Given the description of an element on the screen output the (x, y) to click on. 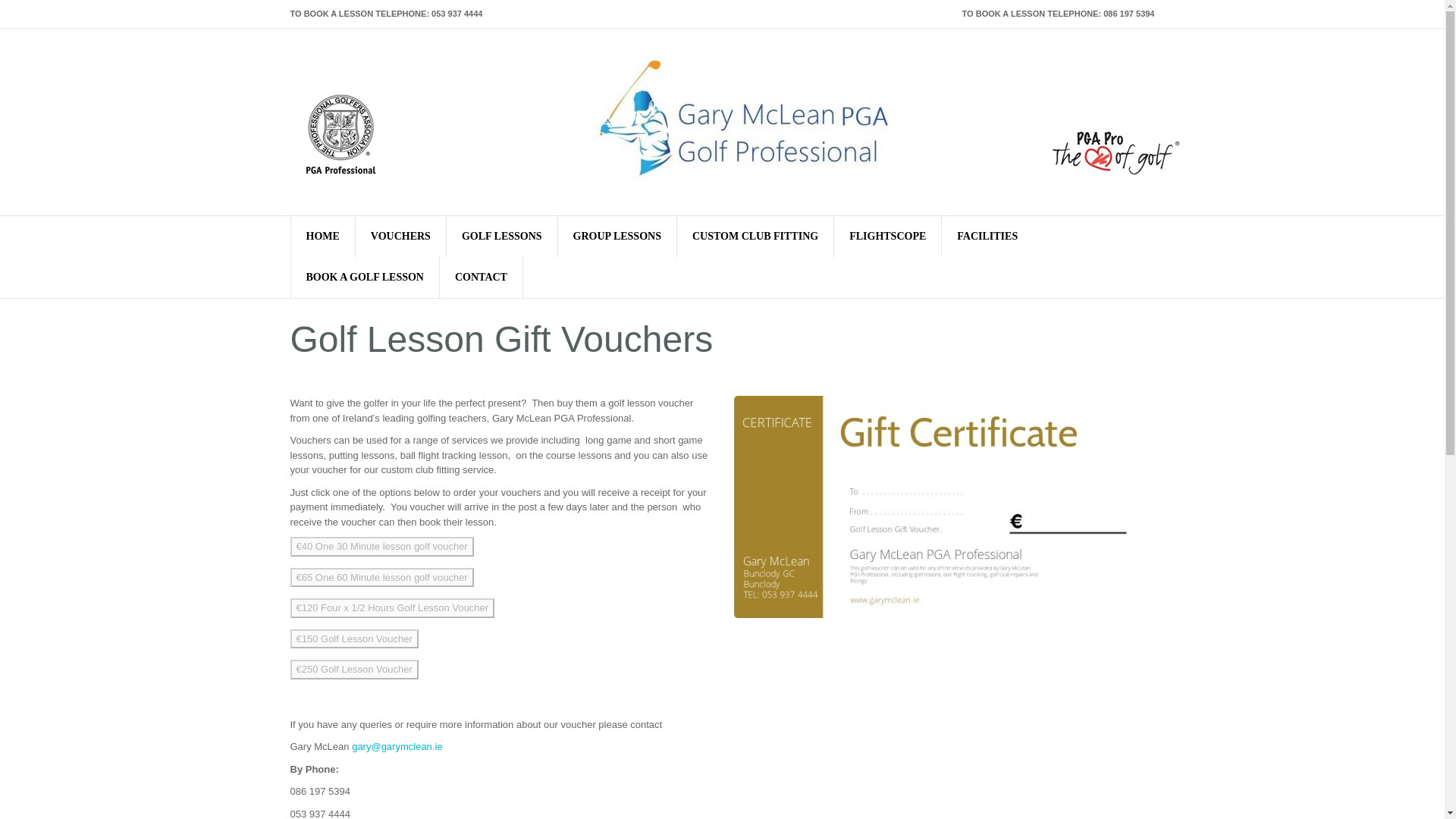
FACILITIES (986, 236)
CONTACT (480, 277)
CUSTOM CLUB FITTING (754, 236)
BOOK A GOLF LESSON (363, 277)
HOME (321, 236)
GOLF LESSONS (501, 236)
FLIGHTSCOPE (886, 236)
VOUCHERS (400, 236)
GROUP LESSONS (617, 236)
